Given the description of an element on the screen output the (x, y) to click on. 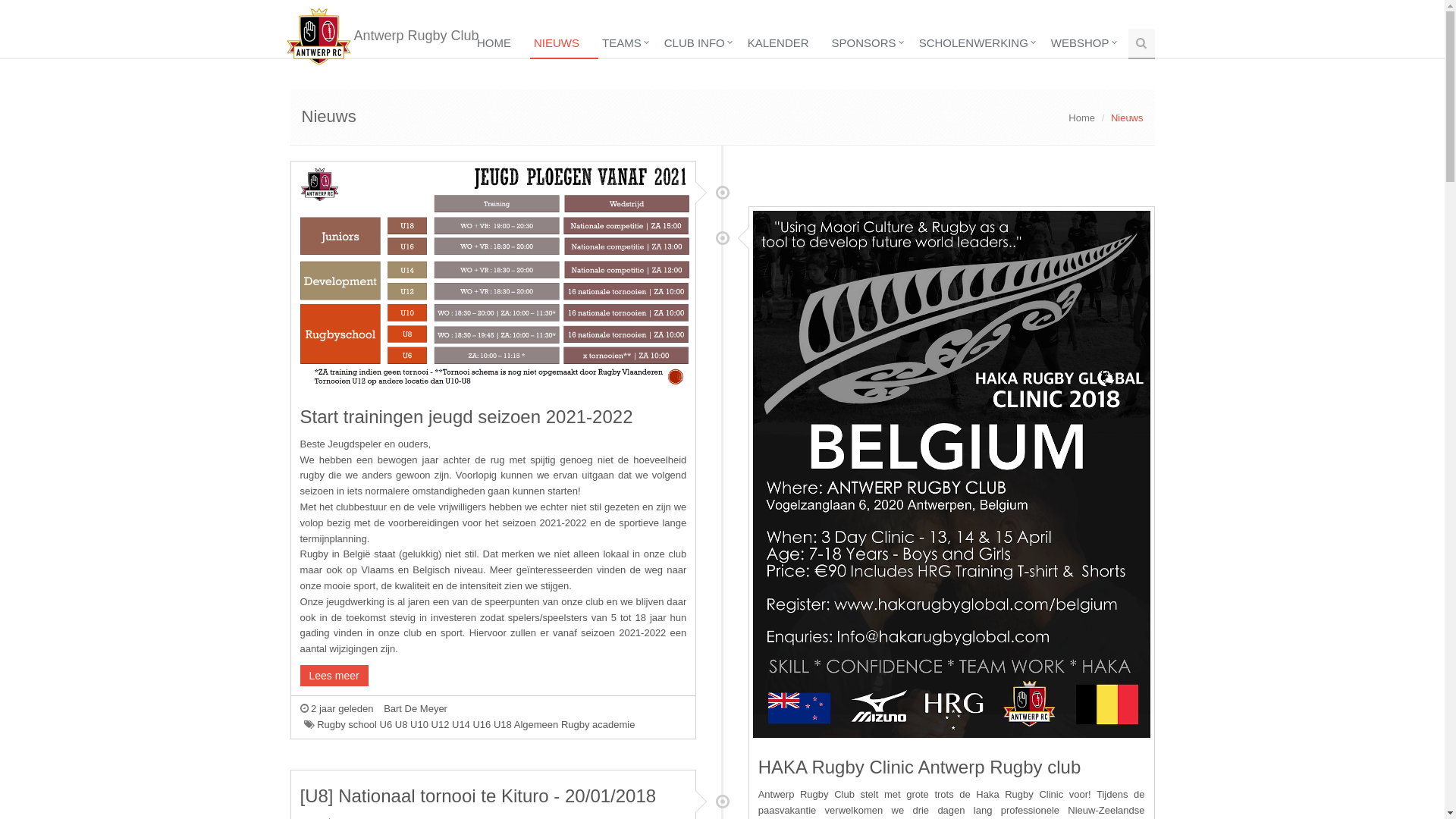
SPONSORS Element type: text (871, 43)
Rugby academie Element type: text (598, 724)
Start trainingen jeugd seizoen 2021-2022 Element type: text (466, 416)
U16 Element type: text (481, 724)
U12 Element type: text (440, 724)
HOME Element type: text (501, 43)
Antwerp Rugby Club Element type: text (382, 11)
Home Element type: text (1081, 117)
[U8] Nationaal tornooi te Kituro - 20/01/2018 Element type: text (478, 795)
Lees meer Element type: text (334, 675)
TEAMS Element type: text (629, 43)
Rugby school Element type: text (346, 724)
U10 Element type: text (419, 724)
Algemeen Element type: text (536, 724)
U18 Element type: text (502, 724)
WEBSHOP Element type: text (1087, 43)
SCHOLENWERKING Element type: text (981, 43)
NIEUWS Element type: text (564, 43)
HAKA Rugby Clinic Antwerp Rugby club Element type: text (919, 766)
U8 Element type: text (401, 724)
KALENDER Element type: text (785, 43)
U14 Element type: text (460, 724)
U6 Element type: text (385, 724)
CLUB INFO Element type: text (701, 43)
